Given the description of an element on the screen output the (x, y) to click on. 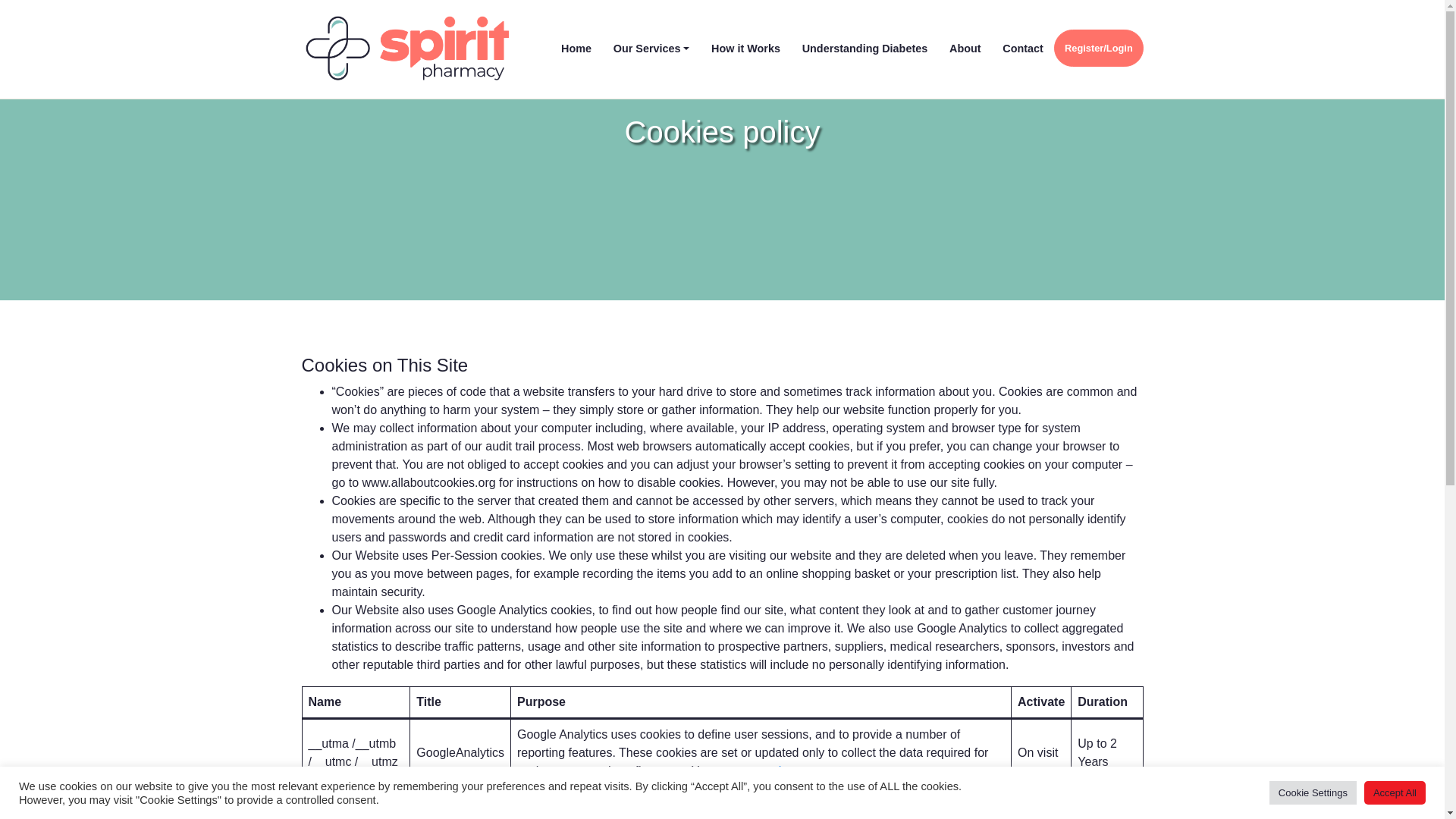
Contact (1022, 49)
About (965, 49)
About (965, 49)
How it Works (746, 49)
Contact (1022, 49)
Our Services (651, 49)
Accept All (1394, 792)
Our Services (651, 49)
here (790, 770)
Understanding Diabetes (863, 49)
Understanding Diabetes (863, 49)
Home (576, 49)
Home (576, 49)
How it Works (746, 49)
Cookie Settings (1312, 792)
